Given the description of an element on the screen output the (x, y) to click on. 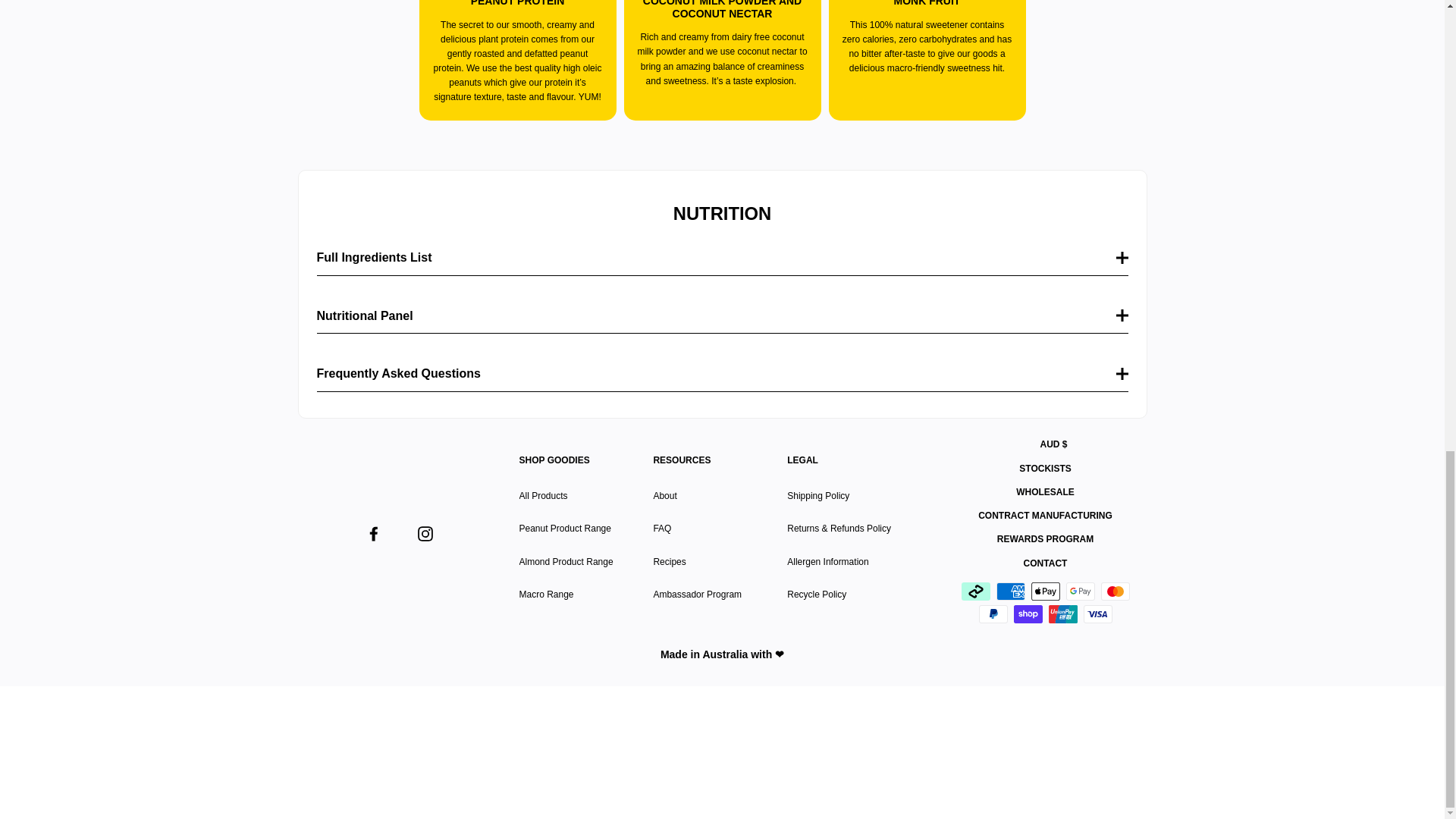
Macro Mike on Instagram (424, 532)
PayPal (992, 614)
Shop Pay (1027, 614)
Mastercard (1114, 591)
Afterpay (975, 591)
Google Pay (1079, 591)
Visa (1097, 614)
Macro Mike on Facebook (372, 532)
American Express (1010, 591)
Apple Pay (1044, 591)
